Given the description of an element on the screen output the (x, y) to click on. 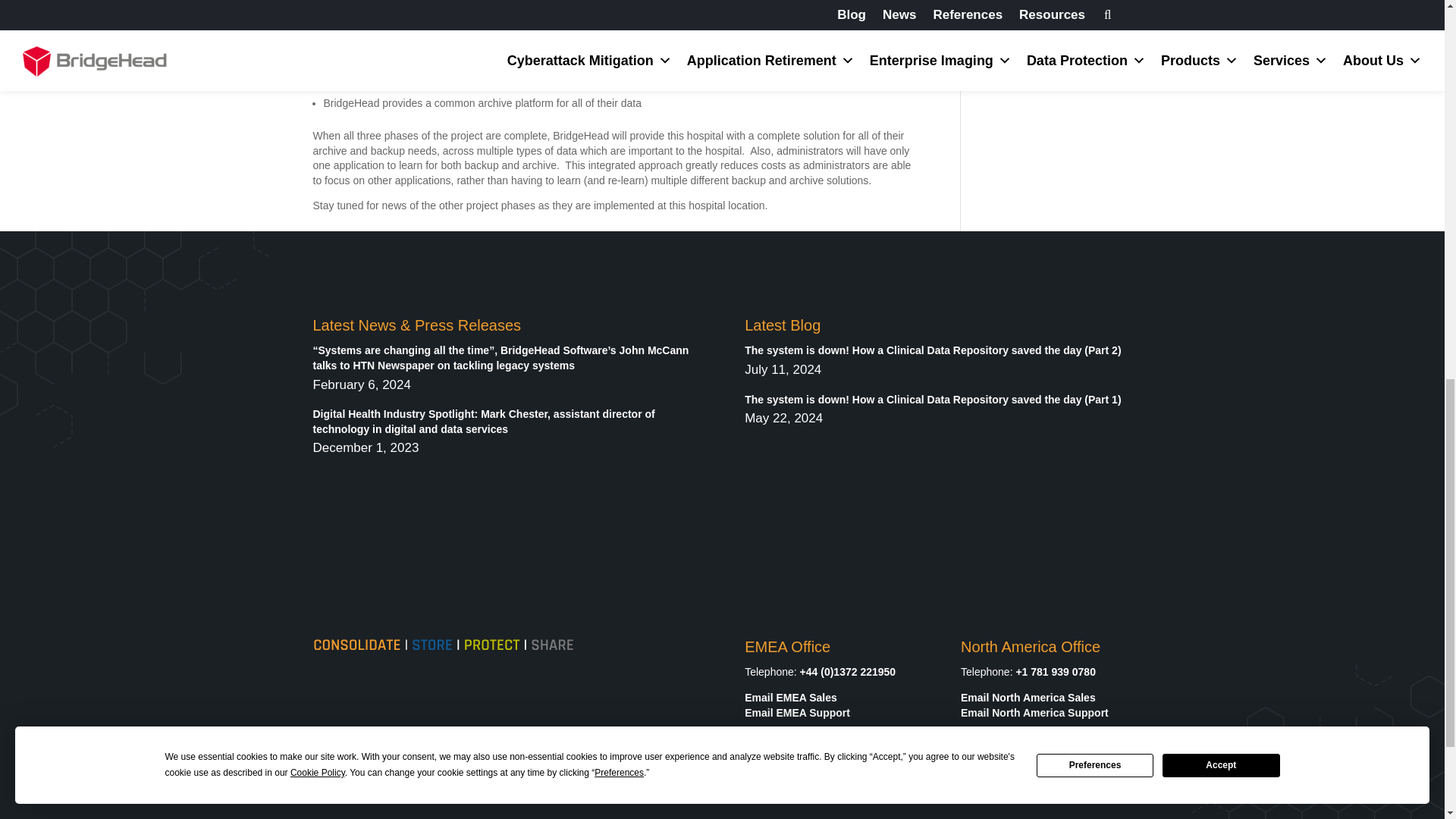
New Footer Logo (443, 645)
